Given the description of an element on the screen output the (x, y) to click on. 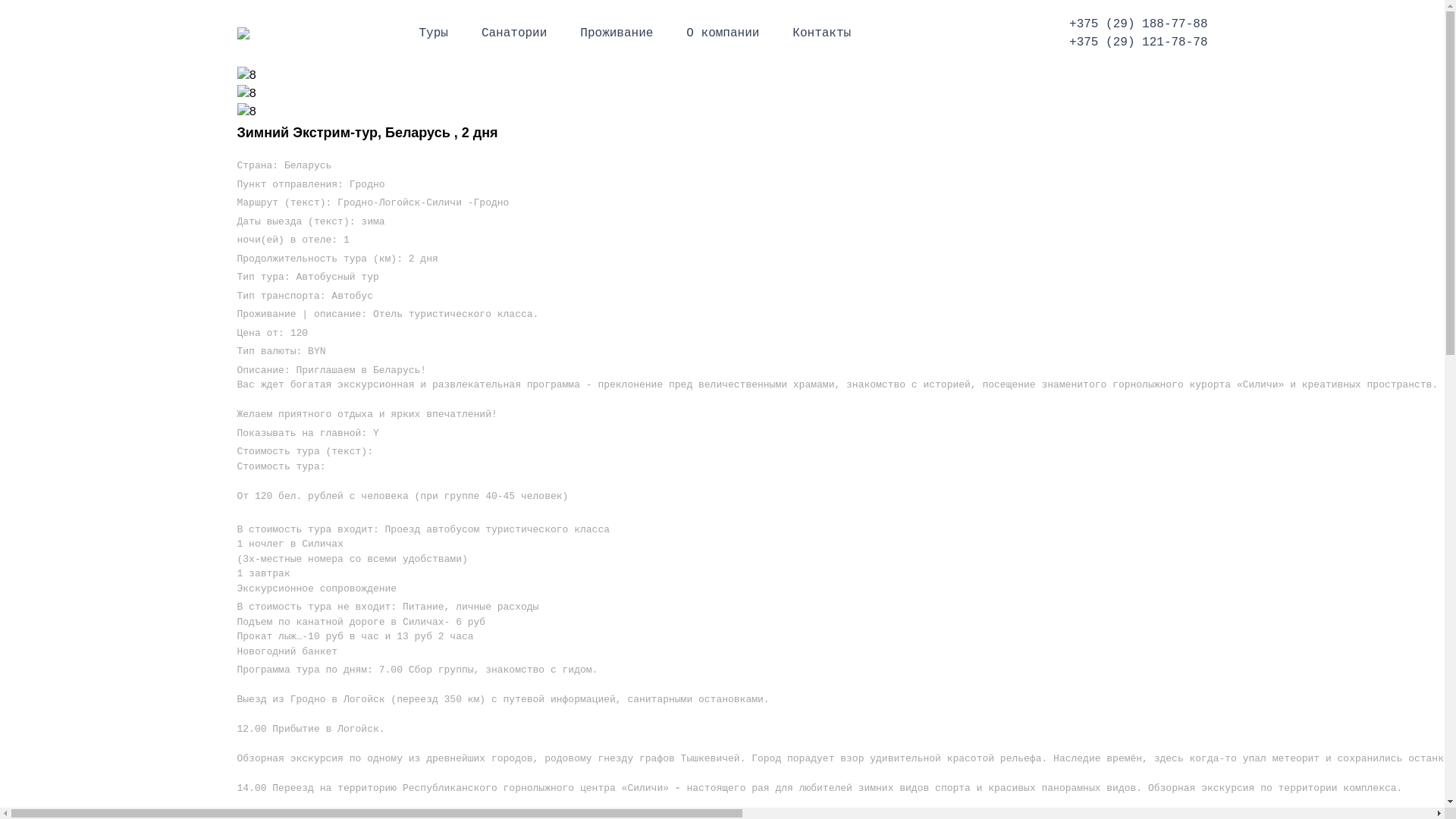
+375 (29) 121-78-78 Element type: text (1138, 42)
+375 (29) 188-77-88 Element type: text (1138, 24)
